Given the description of an element on the screen output the (x, y) to click on. 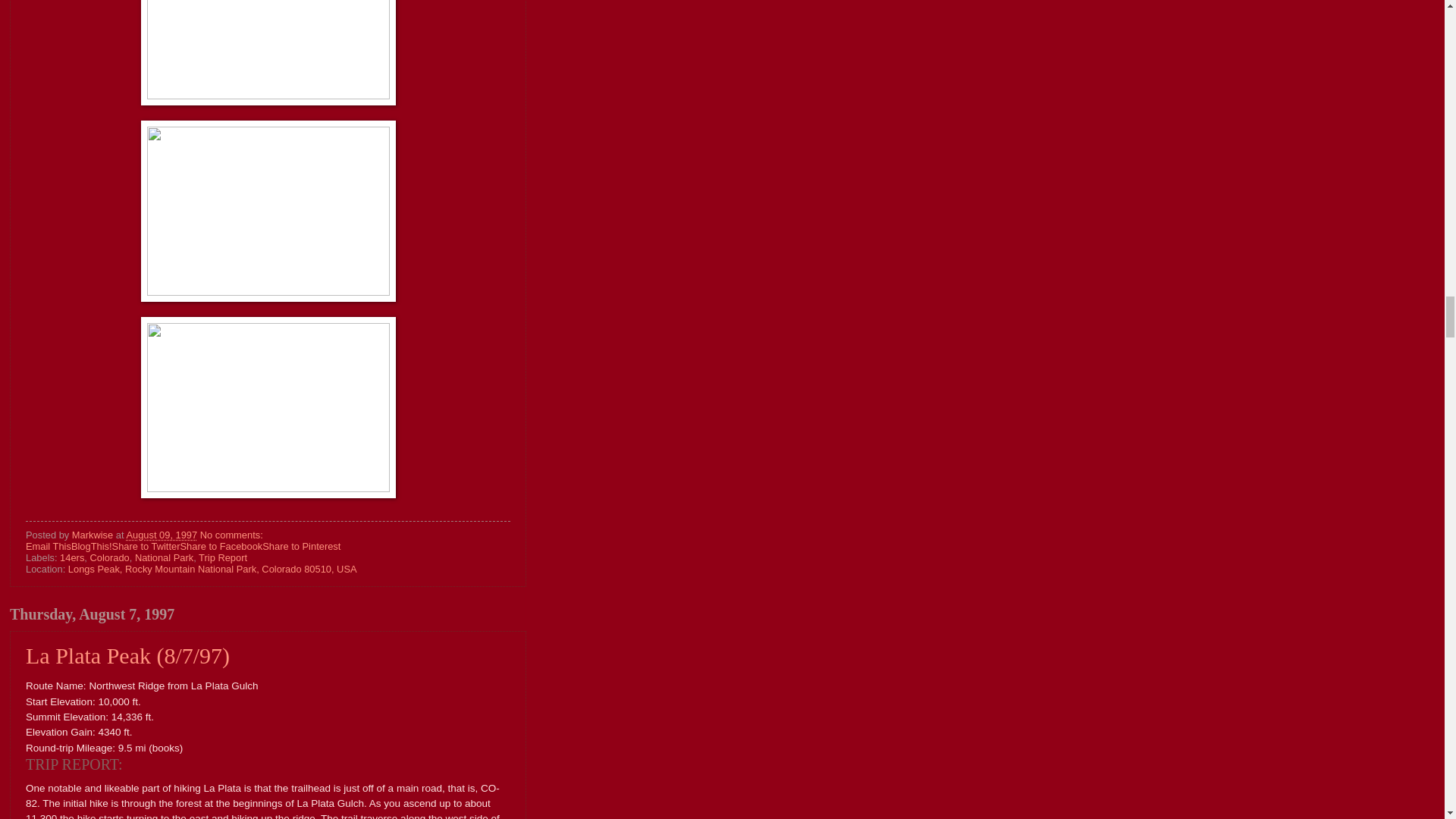
Colorado (108, 557)
permanent link (160, 534)
Share to Facebook (220, 546)
Share to Pinterest (301, 546)
author profile (93, 534)
August 09, 1997 (160, 534)
Markwise (93, 534)
Share to Twitter (146, 546)
National Park (164, 557)
BlogThis! (91, 546)
Trip Report (222, 557)
Share to Facebook (220, 546)
Share to Pinterest (301, 546)
14ers (71, 557)
No comments: (231, 534)
